Given the description of an element on the screen output the (x, y) to click on. 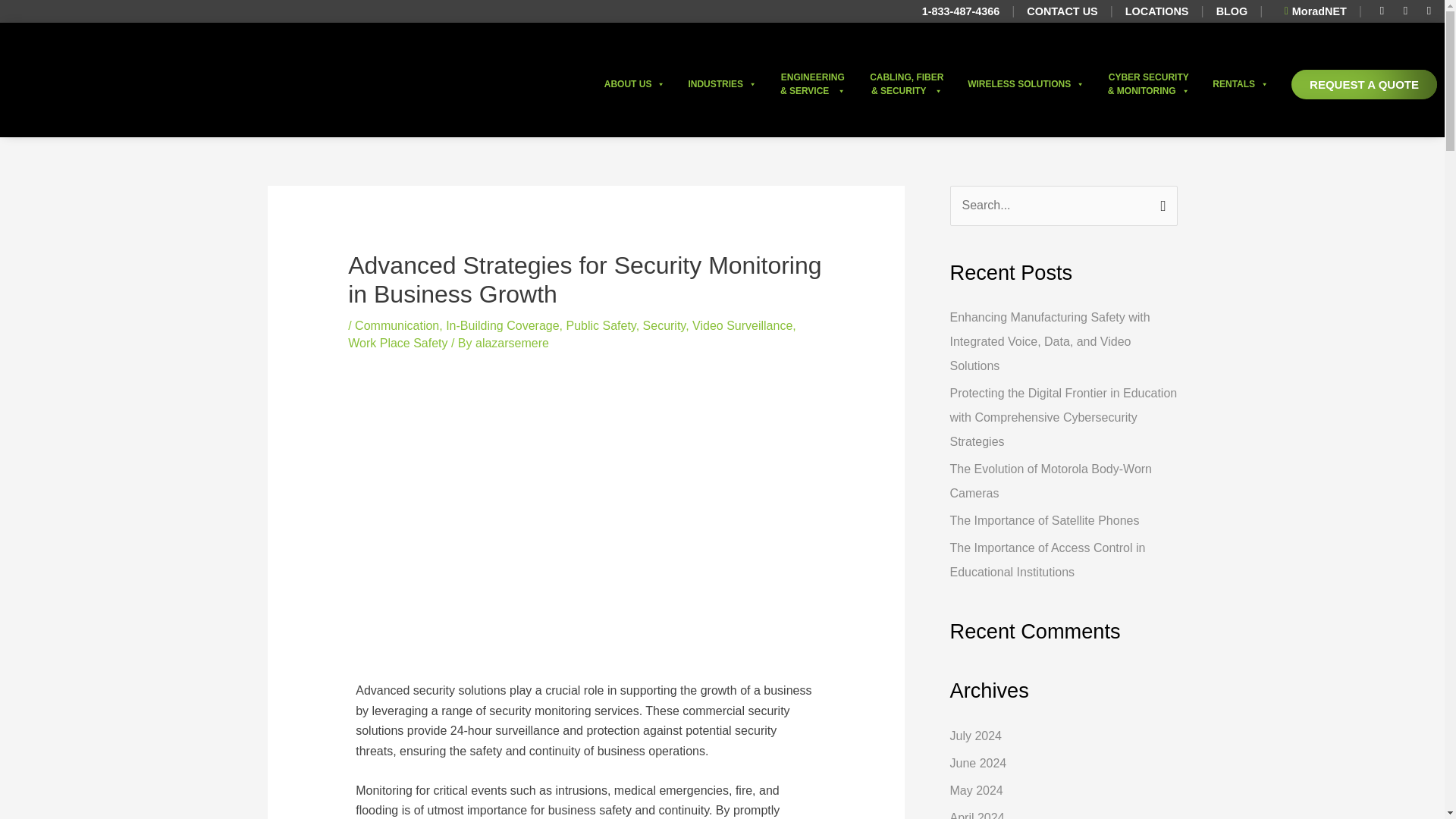
INDUSTRIES (722, 83)
Twitter (1405, 10)
Linkedin-in (1429, 10)
BLOG (1231, 11)
LOCATIONS (1157, 11)
Facebook-f (1382, 10)
MoradNET (1310, 11)
ABOUT US (634, 83)
CONTACT US (1061, 11)
View all posts by alazarsemere (512, 342)
1-833-487-4366 (959, 11)
